Given the description of an element on the screen output the (x, y) to click on. 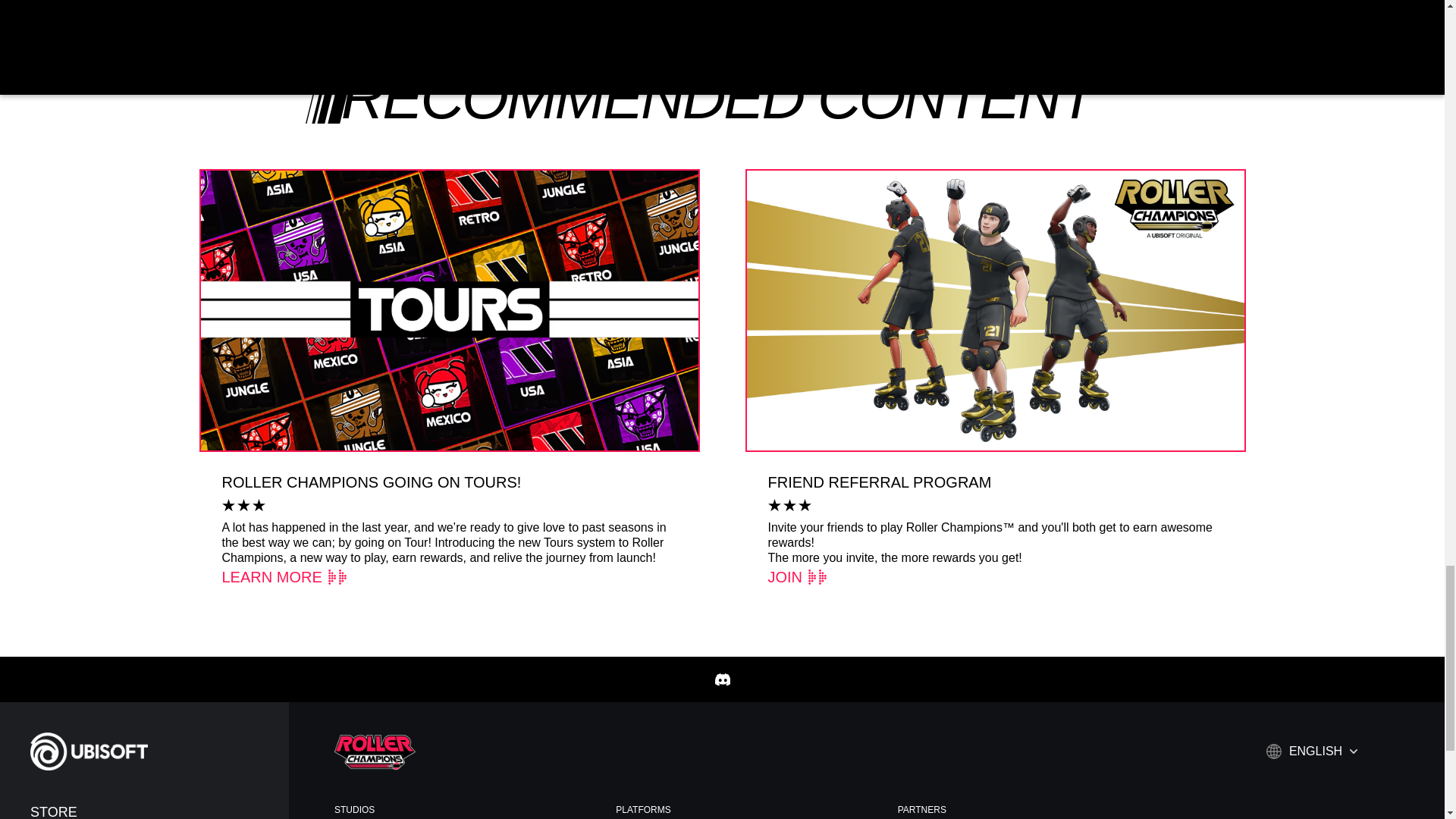
Twitter Logo (722, 15)
Reddit Logo (767, 15)
Facebook Logo (676, 15)
LEARN MORE (284, 576)
JOIN (797, 576)
ENGLISH (1311, 751)
STORE (151, 811)
Facebook Logo (676, 15)
Twitter Logo (722, 15)
Reddit Logo (767, 15)
